Given the description of an element on the screen output the (x, y) to click on. 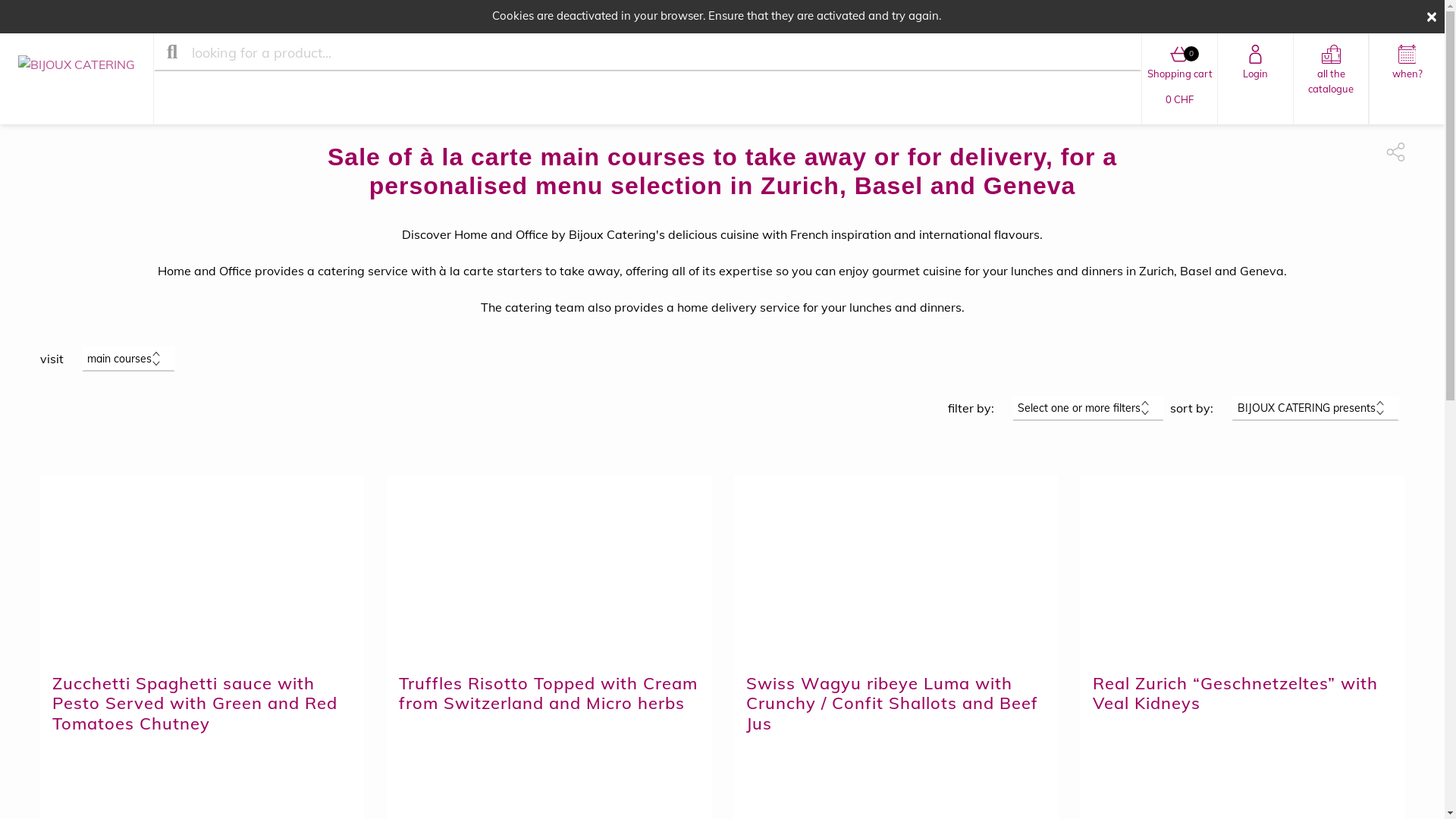
0

Shopping cart
0 CHF Element type: text (1179, 78)
Login Element type: text (1254, 78)
BIJOUX CATERING Element type: hover (76, 78)
all the catalogue Element type: text (1330, 78)
